Given the description of an element on the screen output the (x, y) to click on. 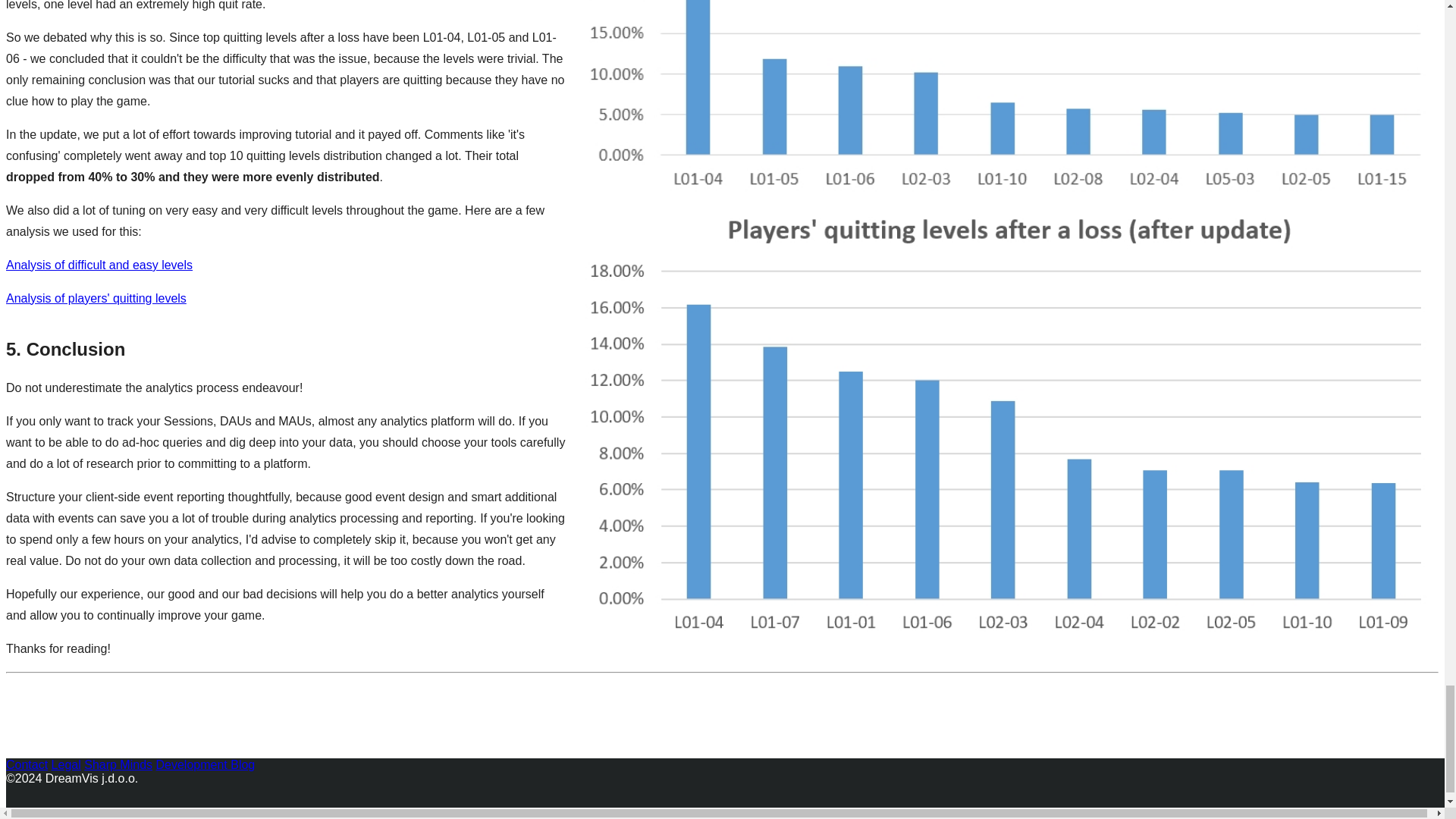
Development Blog (204, 764)
Analysis of difficult and easy levels (98, 264)
Analysis of players' quitting levels (95, 297)
Legal (65, 764)
Sharp Minds (118, 764)
Analysis of difficult and easy levels (98, 264)
Contact (26, 764)
